Given the description of an element on the screen output the (x, y) to click on. 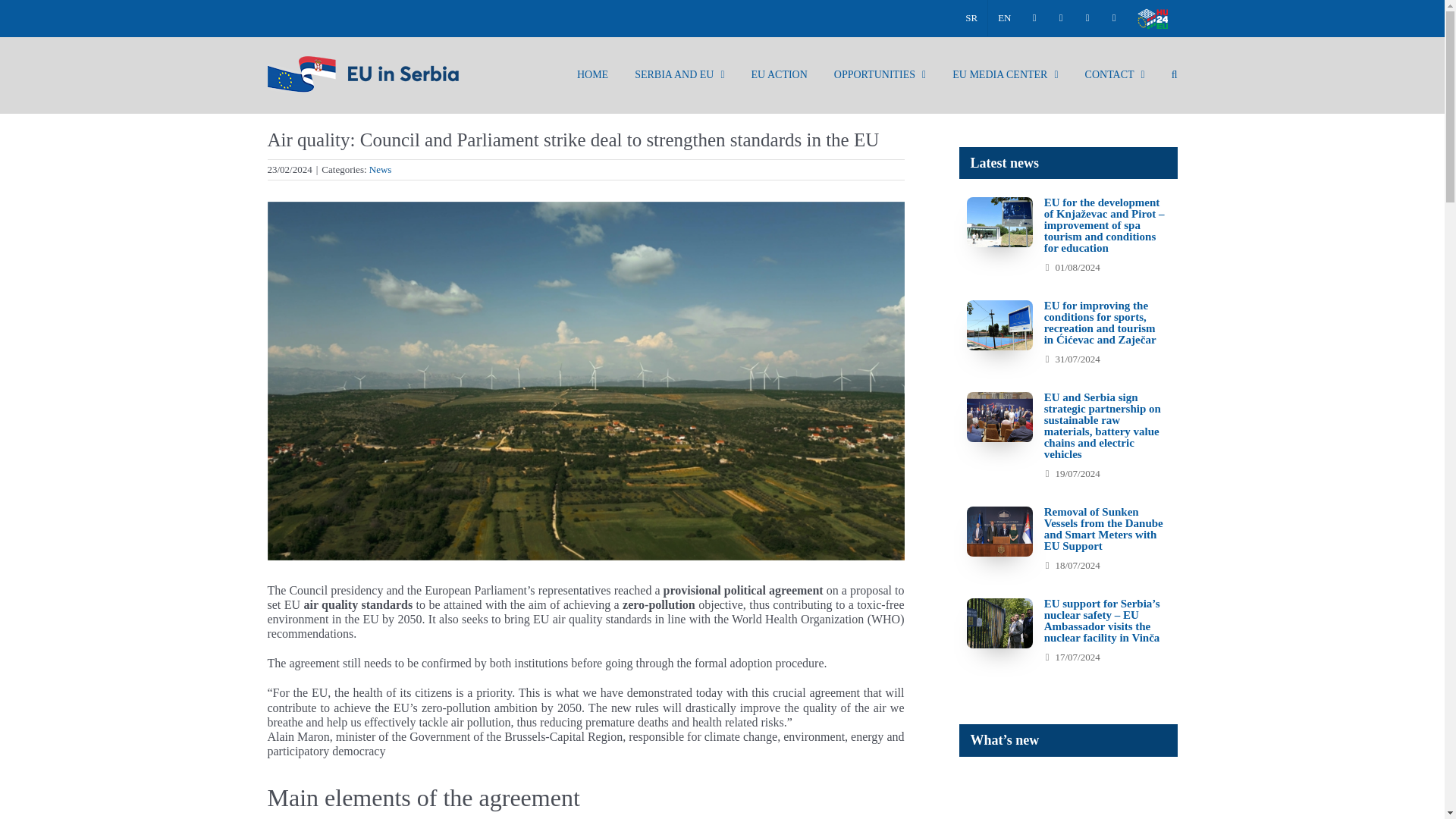
Hungarian Presidency of the Council of the EU (1151, 18)
OPPORTUNITIES (880, 74)
SERBIA AND EU (678, 74)
EN (1004, 18)
EU MEDIA CENTER (1005, 74)
YouTube video player (1170, 796)
EN (1004, 18)
